Given the description of an element on the screen output the (x, y) to click on. 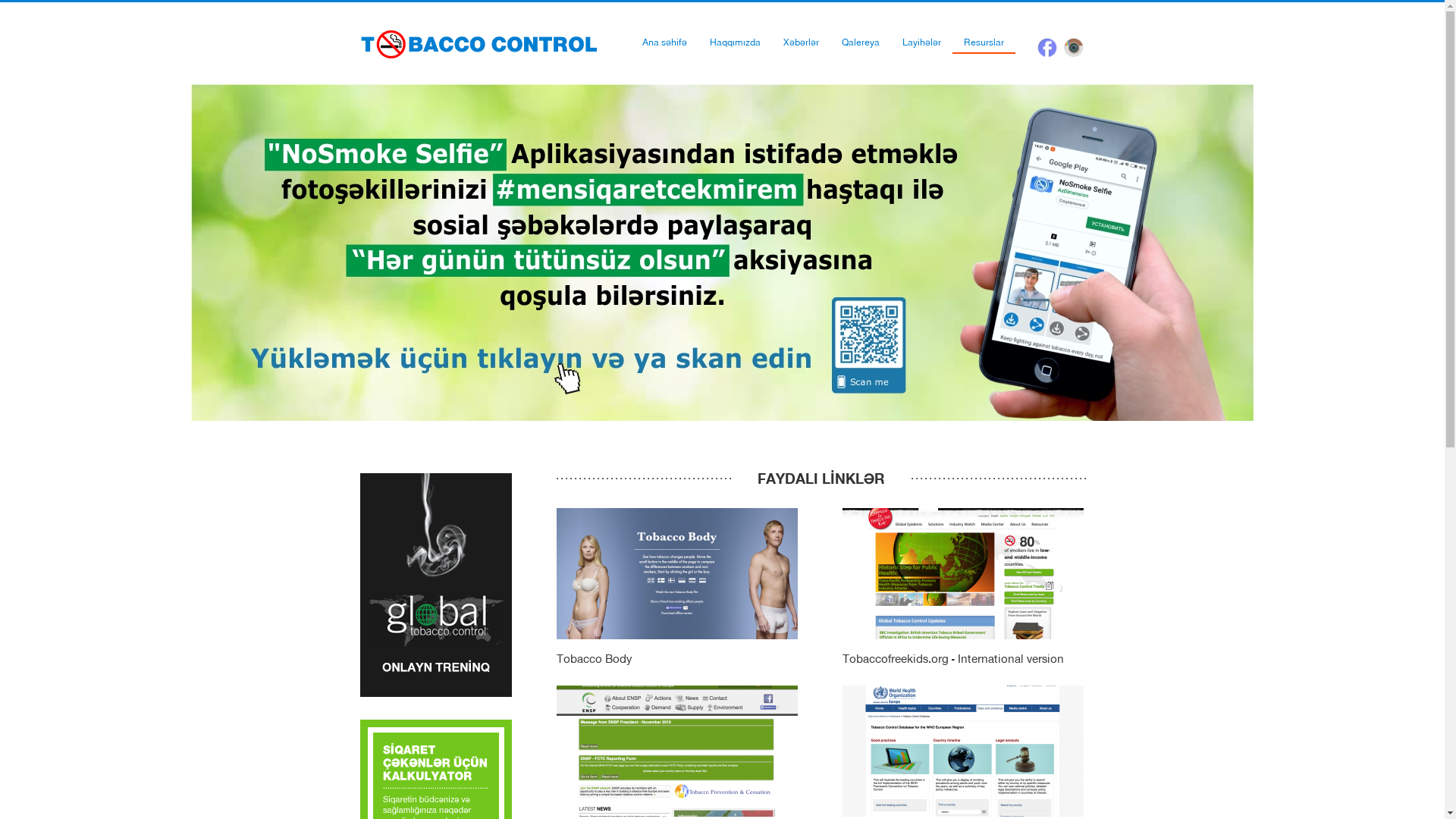
Resurslar Element type: text (983, 42)
Tobacco Body Element type: text (676, 588)
Instagram Element type: text (1072, 47)
Facebook Element type: text (1046, 47)
Tobaccofreekids.org - International version Element type: text (961, 588)
Tobaccocontrol Element type: text (478, 44)
Qalereya Element type: text (860, 42)
